Given the description of an element on the screen output the (x, y) to click on. 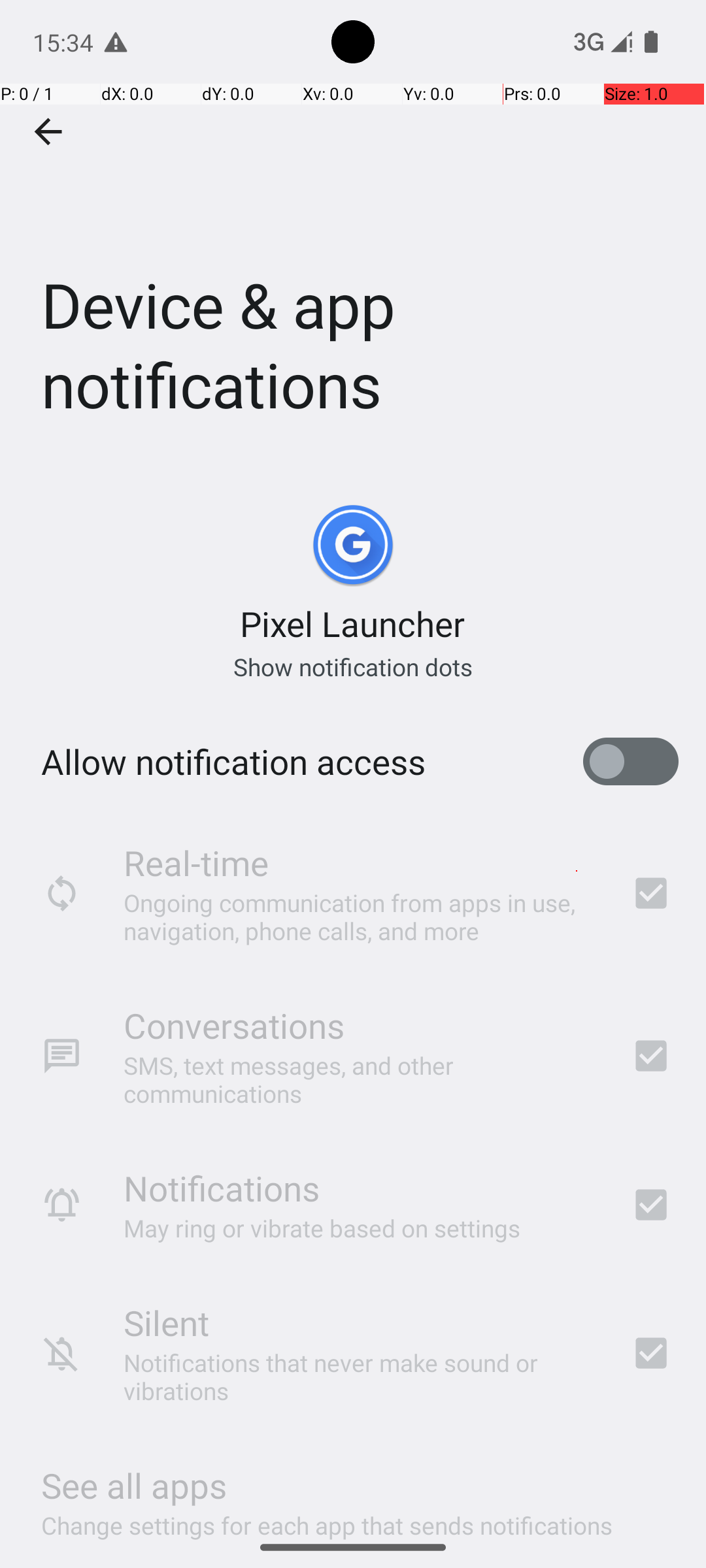
Device & app notifications Element type: android.widget.FrameLayout (353, 231)
Pixel Launcher Element type: android.widget.TextView (352, 623)
Show notification dots Element type: android.widget.TextView (352, 666)
Allow notification access Element type: android.widget.TextView (233, 761)
Real-time Element type: android.widget.TextView (195, 862)
Ongoing communication from apps in use, navigation, phone calls, and more Element type: android.widget.TextView (359, 916)
Conversations Element type: android.widget.TextView (233, 1025)
SMS, text messages, and other communications Element type: android.widget.TextView (359, 1079)
May ring or vibrate based on settings Element type: android.widget.TextView (322, 1227)
Silent Element type: android.widget.TextView (166, 1322)
Notifications that never make sound or vibrations Element type: android.widget.TextView (359, 1376)
See all apps Element type: android.widget.TextView (133, 1485)
Change settings for each app that sends notifications Element type: android.widget.TextView (326, 1517)
